Given the description of an element on the screen output the (x, y) to click on. 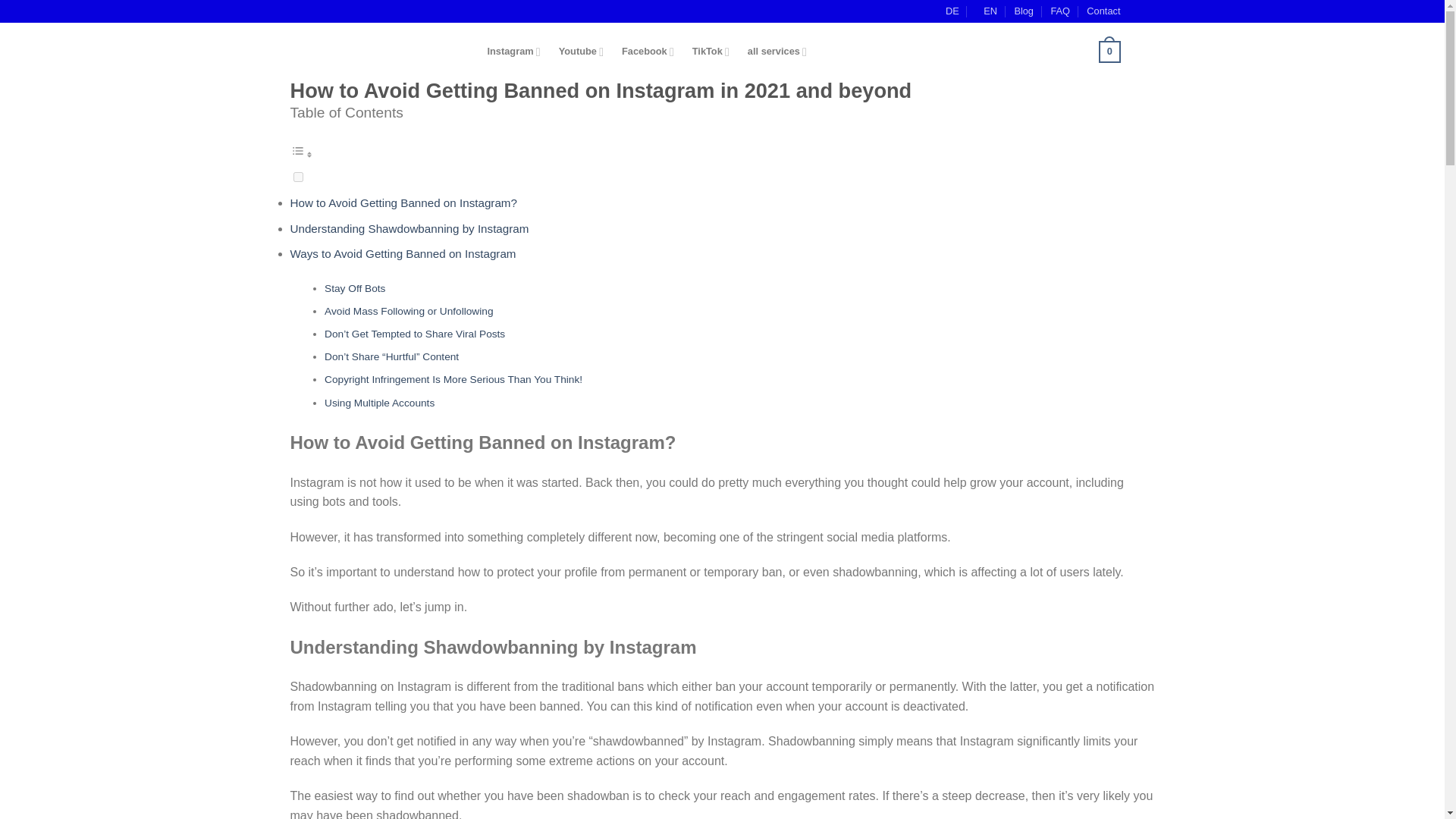
Stay Off Bots (354, 288)
How to Avoid Getting Banned on Instagram? (402, 202)
EN (986, 11)
Youtube (577, 51)
Ways to Avoid Getting Banned on Instagram (402, 253)
on (297, 176)
Instagram (509, 51)
Copyright Infringement Is More Serious Than You Think! (453, 378)
Using Multiple Accounts (378, 402)
Avoid Mass Following or Unfollowing (408, 310)
